Given the description of an element on the screen output the (x, y) to click on. 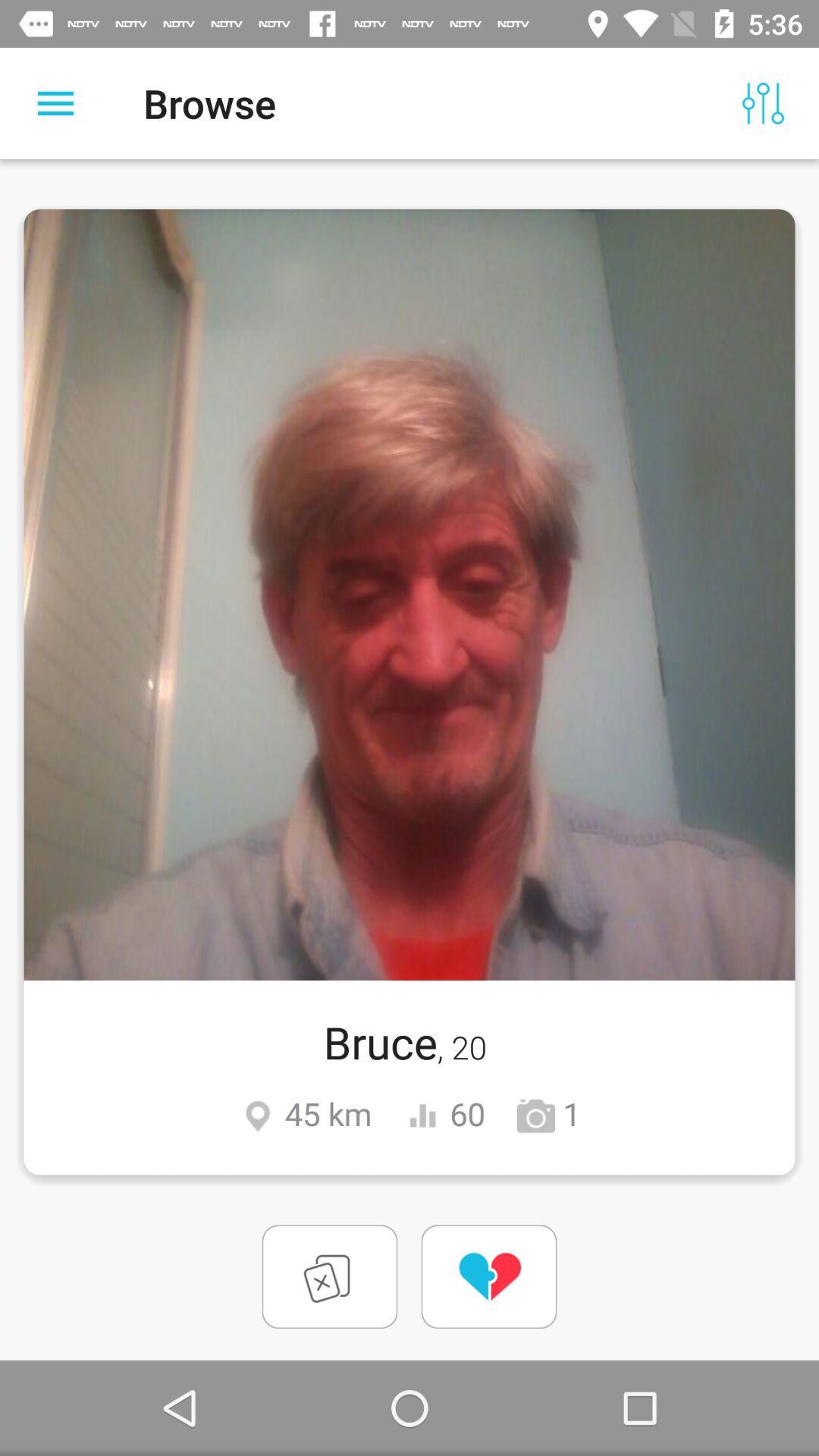
open menu (55, 103)
